Given the description of an element on the screen output the (x, y) to click on. 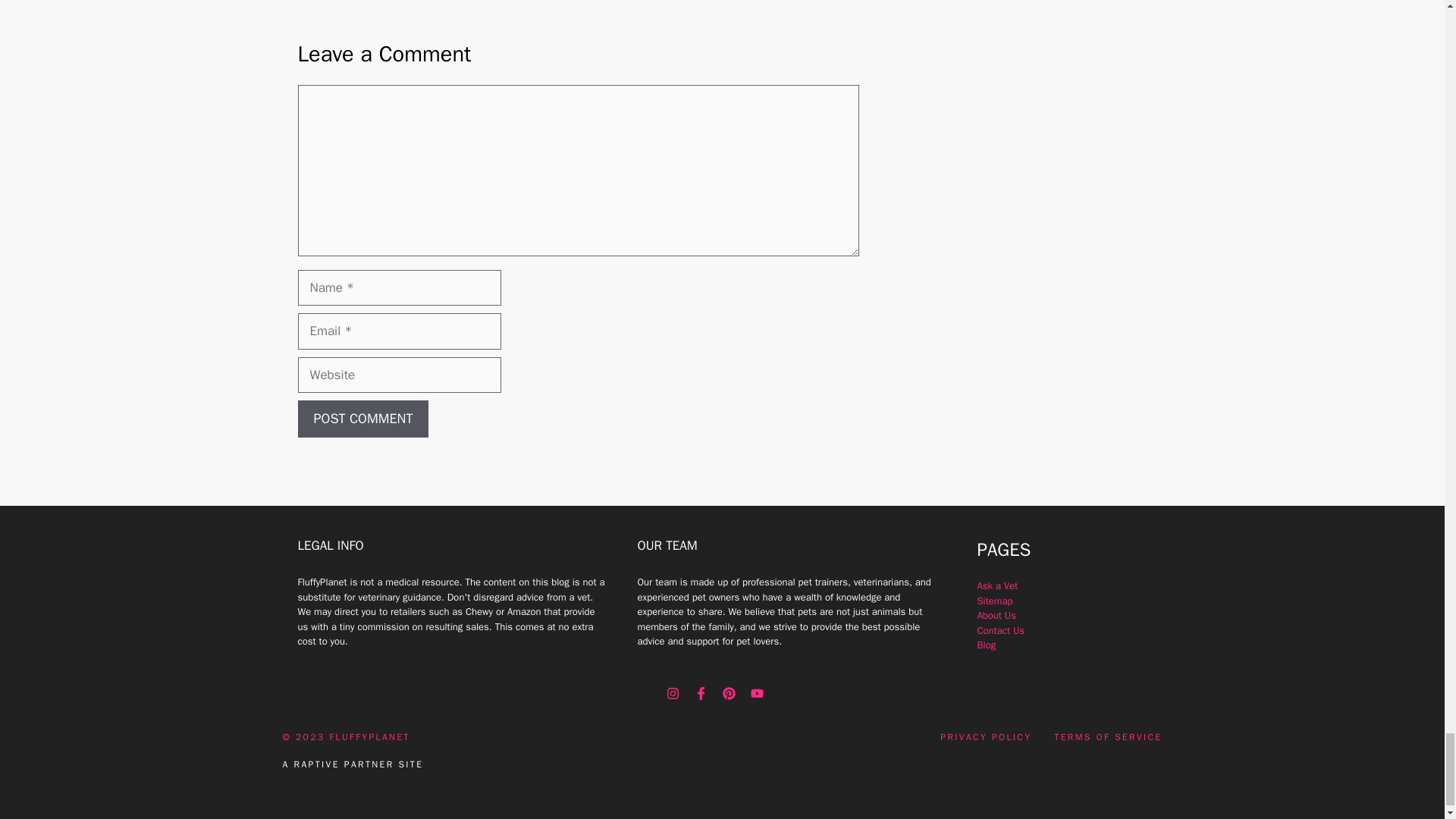
About Us (995, 615)
PRIVACY POLICY (985, 736)
Blog (985, 644)
FLUFFYPLANET (369, 736)
Post Comment (362, 418)
TERMS OF SERVICE (1107, 736)
Post Comment (362, 418)
Sitemap (993, 600)
Contact Us (1000, 630)
Ask a Vet (996, 585)
